Given the description of an element on the screen output the (x, y) to click on. 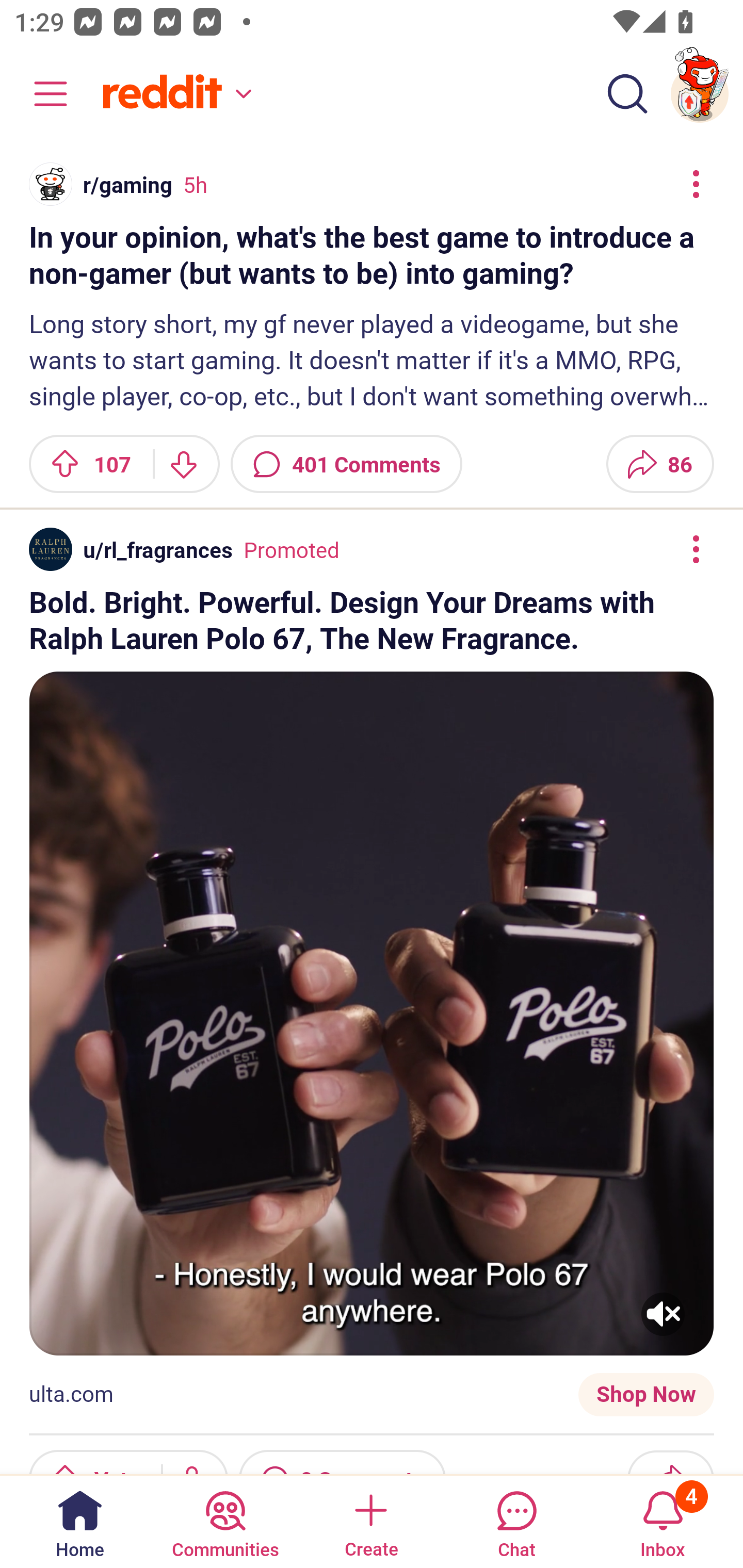
Search (626, 93)
TestAppium002 account (699, 93)
Community menu (41, 94)
Home feed (173, 94)
Home (80, 1520)
Communities (225, 1520)
Create a post Create (370, 1520)
Chat (516, 1520)
Inbox, has 4 notifications 4 Inbox (662, 1520)
